Given the description of an element on the screen output the (x, y) to click on. 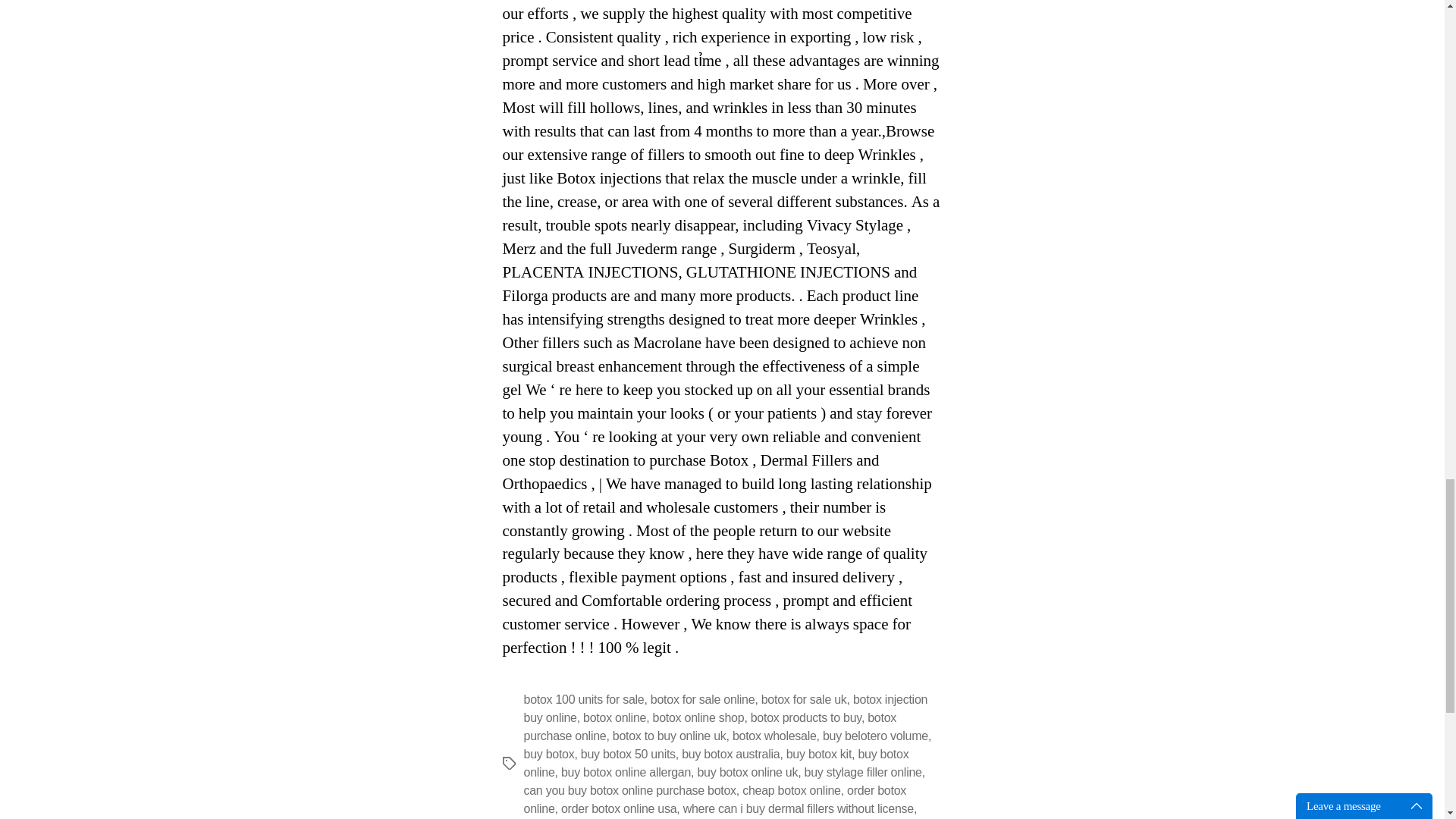
botox for sale uk (804, 698)
botox 100 units for sale (582, 698)
botox injection buy online (724, 707)
botox for sale online (702, 698)
botox online (614, 717)
